Given the description of an element on the screen output the (x, y) to click on. 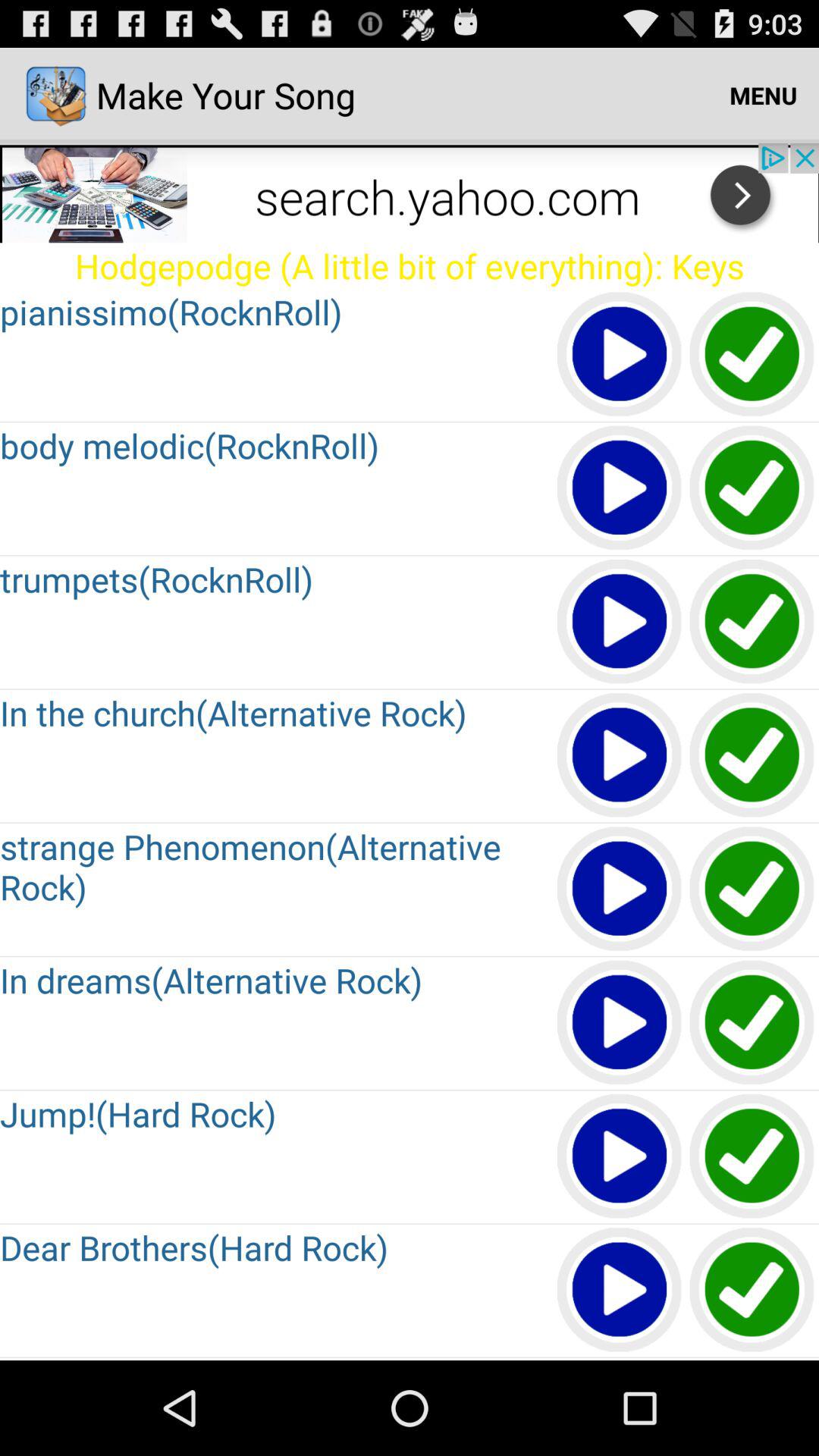
play (619, 622)
